Given the description of an element on the screen output the (x, y) to click on. 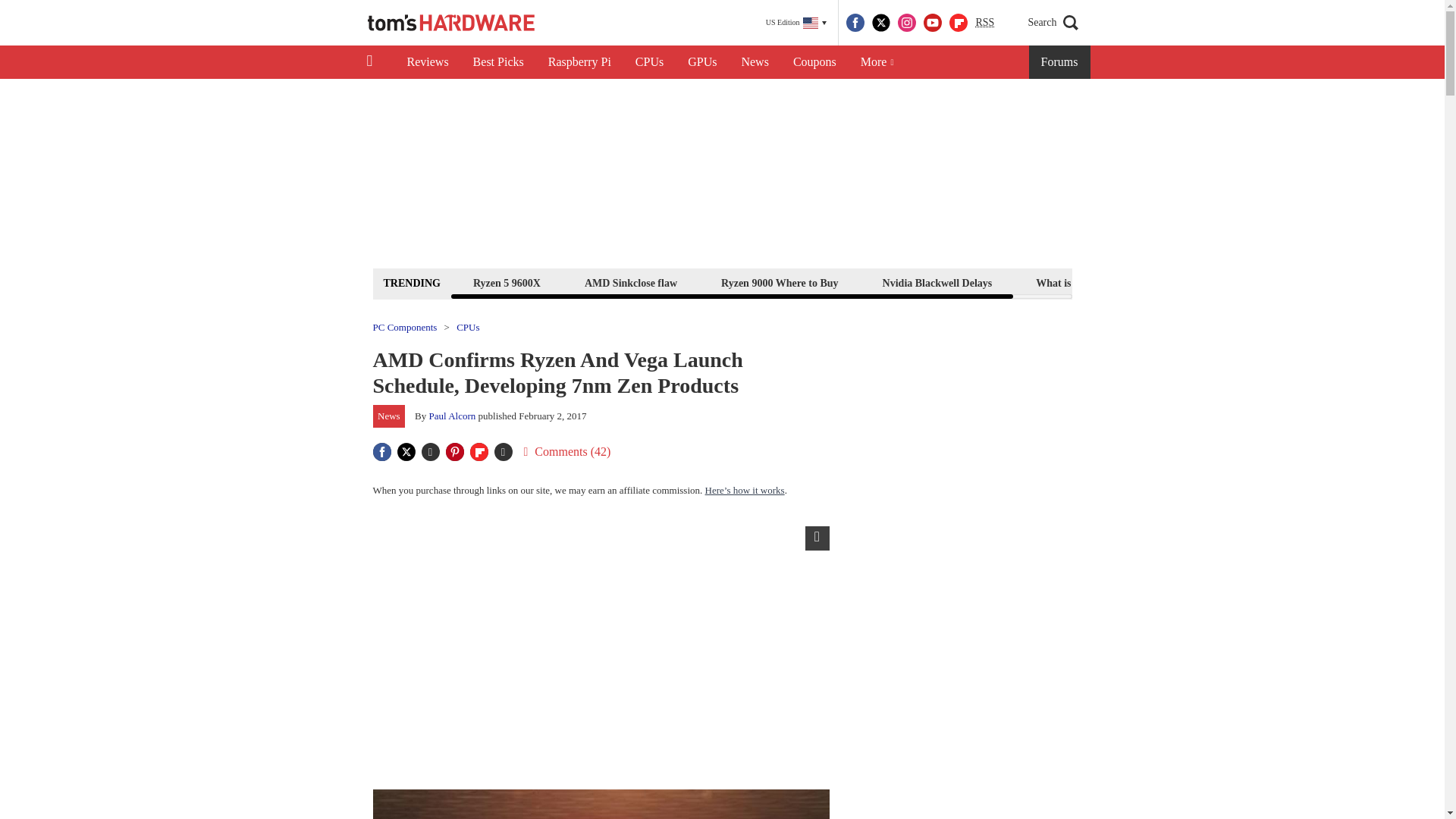
Forums (1059, 61)
Coupons (814, 61)
Best Picks (498, 61)
US Edition (796, 22)
Really Simple Syndication (984, 21)
RSS (984, 22)
CPUs (649, 61)
Reviews (427, 61)
News (754, 61)
GPUs (702, 61)
